Given the description of an element on the screen output the (x, y) to click on. 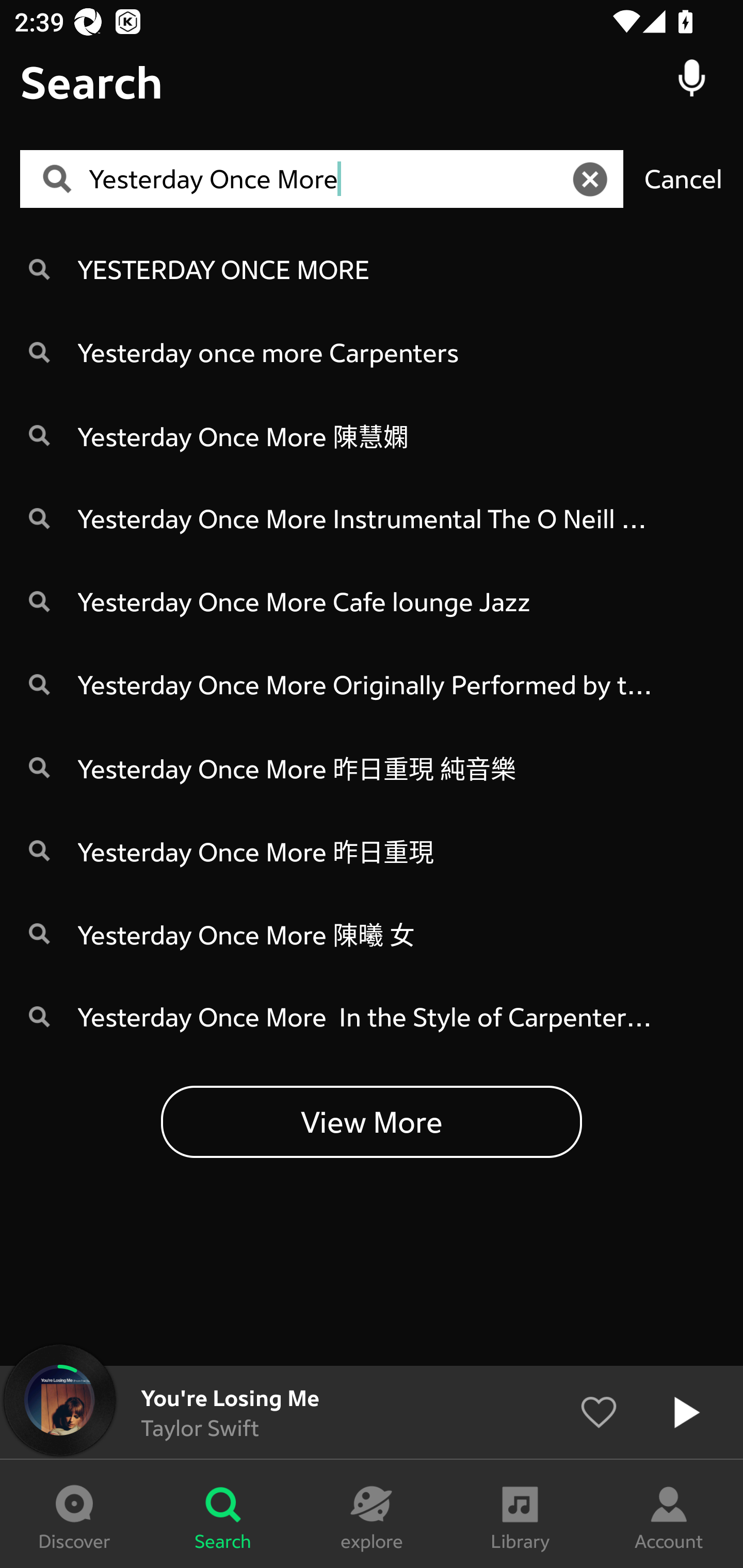
Cancel (683, 178)
Yesterday Once More (327, 179)
YESTERDAY ONCE MORE (371, 268)
Yesterday once more Carpenters (371, 351)
Yesterday Once More 陳慧嫻 (371, 434)
Yesterday Once More Cafe lounge Jazz (371, 600)
Yesterday Once More 昨日重現 純音樂 (371, 767)
Yesterday Once More 昨日重現 (371, 850)
Yesterday Once More 陳曦 女 (371, 933)
View More (371, 1121)
You're Losing Me Taylor Swift (371, 1412)
Discover (74, 1513)
explore (371, 1513)
Library (519, 1513)
Account (668, 1513)
